Given the description of an element on the screen output the (x, y) to click on. 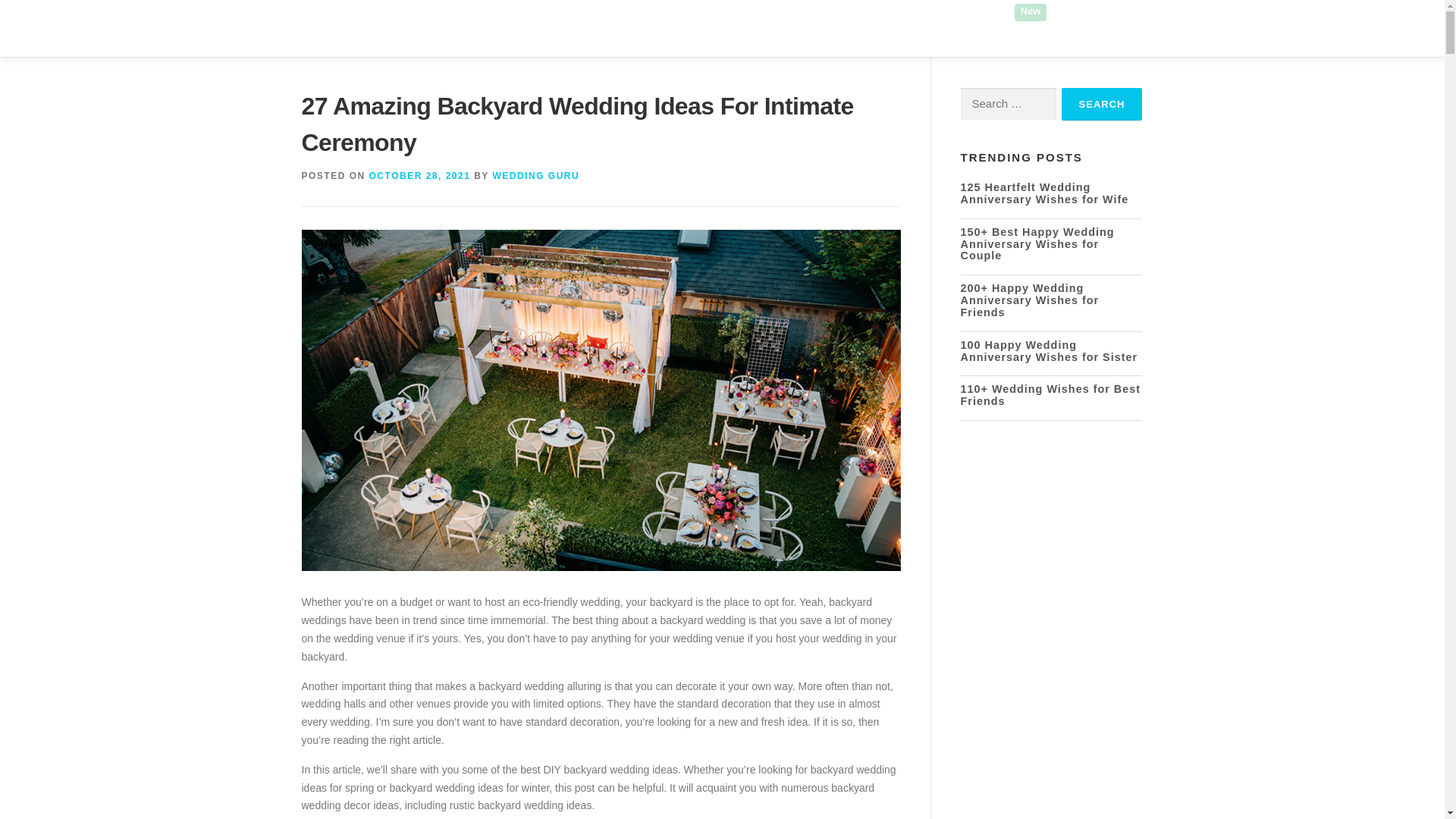
WEDDING GURU (535, 175)
RELATIONSHIPS (878, 28)
HOME (593, 28)
Search (1101, 103)
OCTOBER 28, 2021 (419, 175)
HASHTAG GENERATOR (1073, 28)
TRAVEL (970, 28)
Search (1101, 103)
FASHION (660, 28)
